Given the description of an element on the screen output the (x, y) to click on. 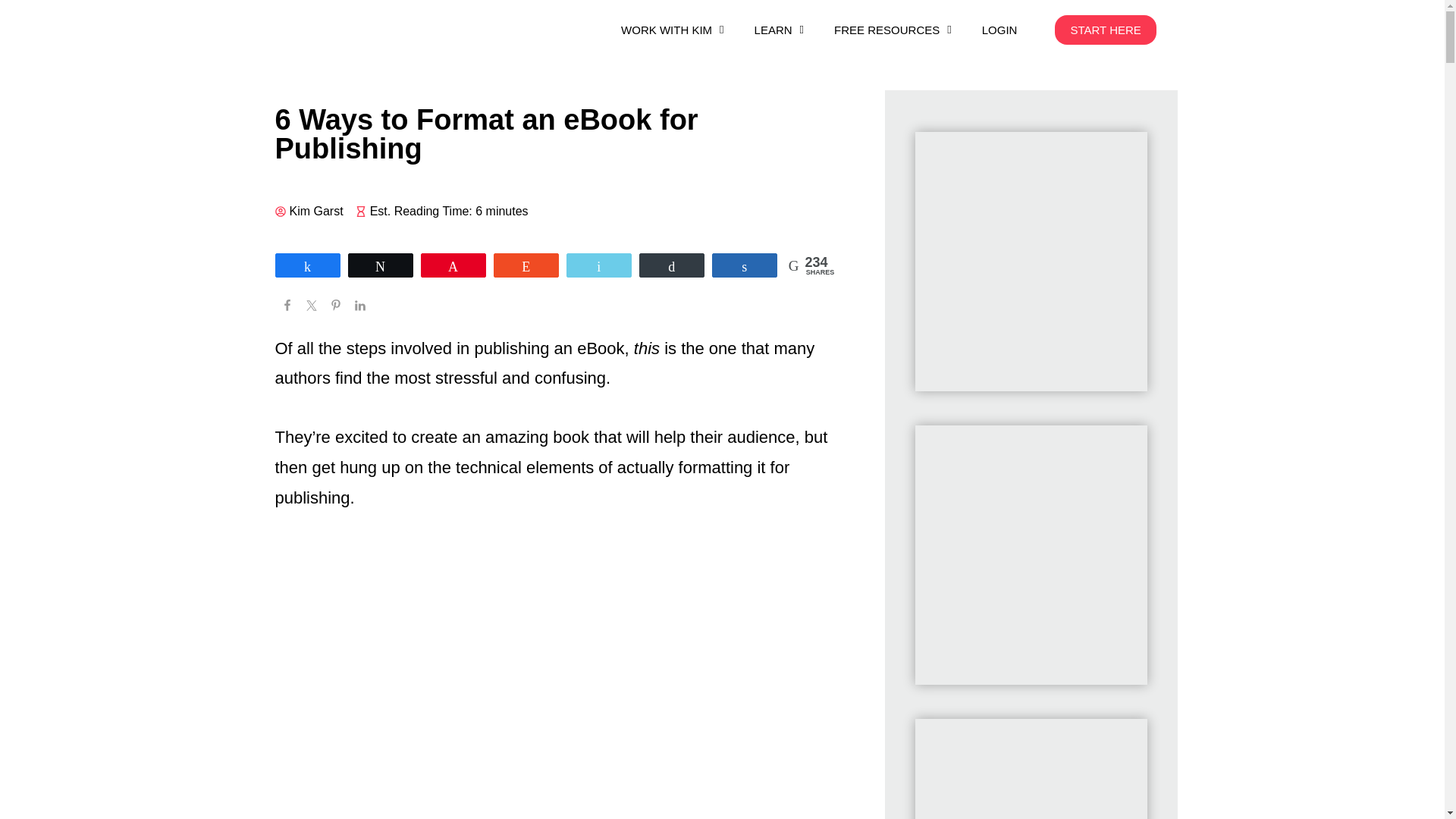
FREE RESOURCES (893, 29)
Share on Pinterest (335, 306)
WORK WITH KIM (671, 29)
Share on Facebook (286, 306)
LEARN (779, 29)
Share on Twitter (310, 306)
Share on LinkedIn (359, 306)
